Given the description of an element on the screen output the (x, y) to click on. 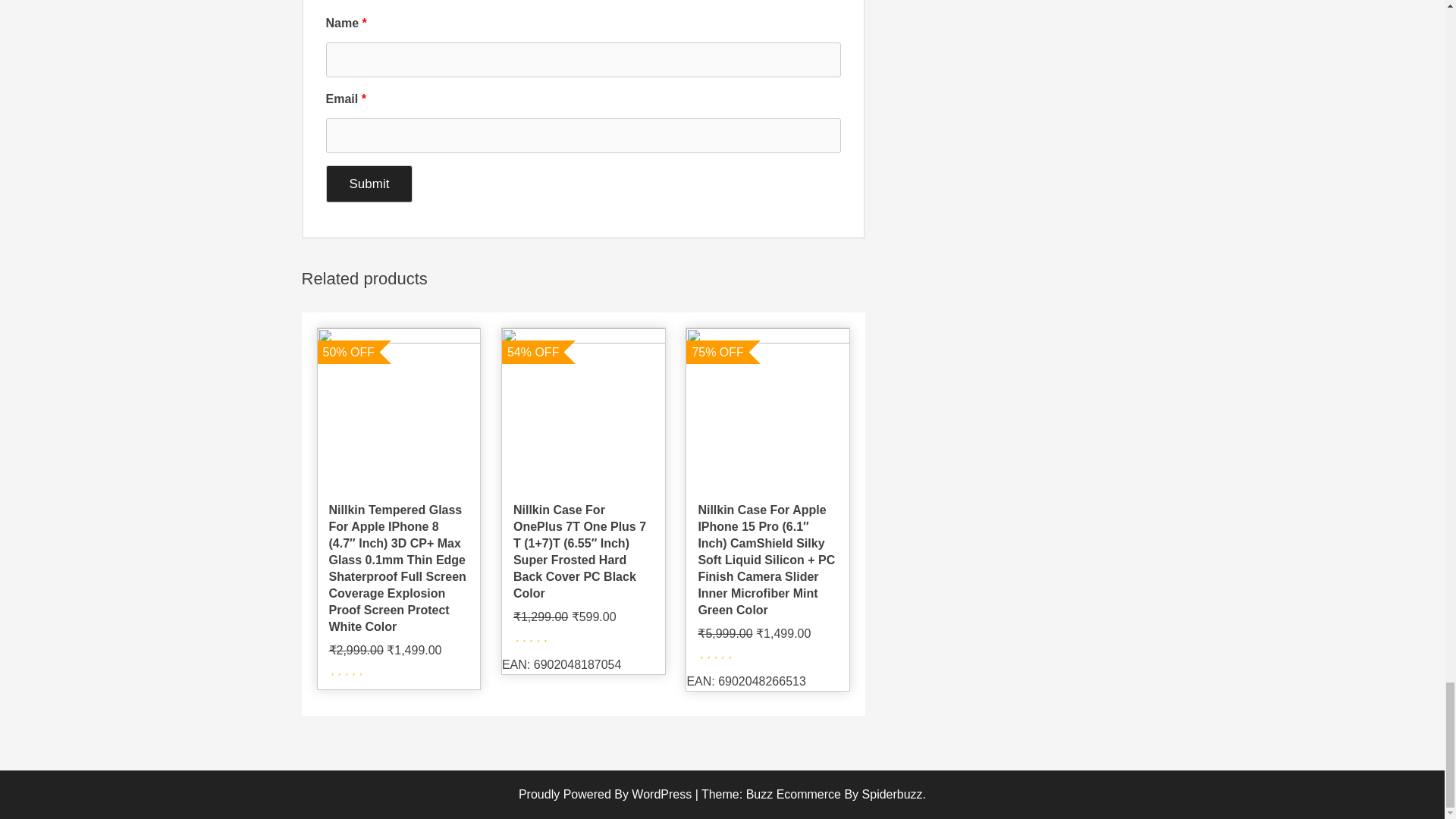
Submit (369, 183)
Submit (369, 183)
